Given the description of an element on the screen output the (x, y) to click on. 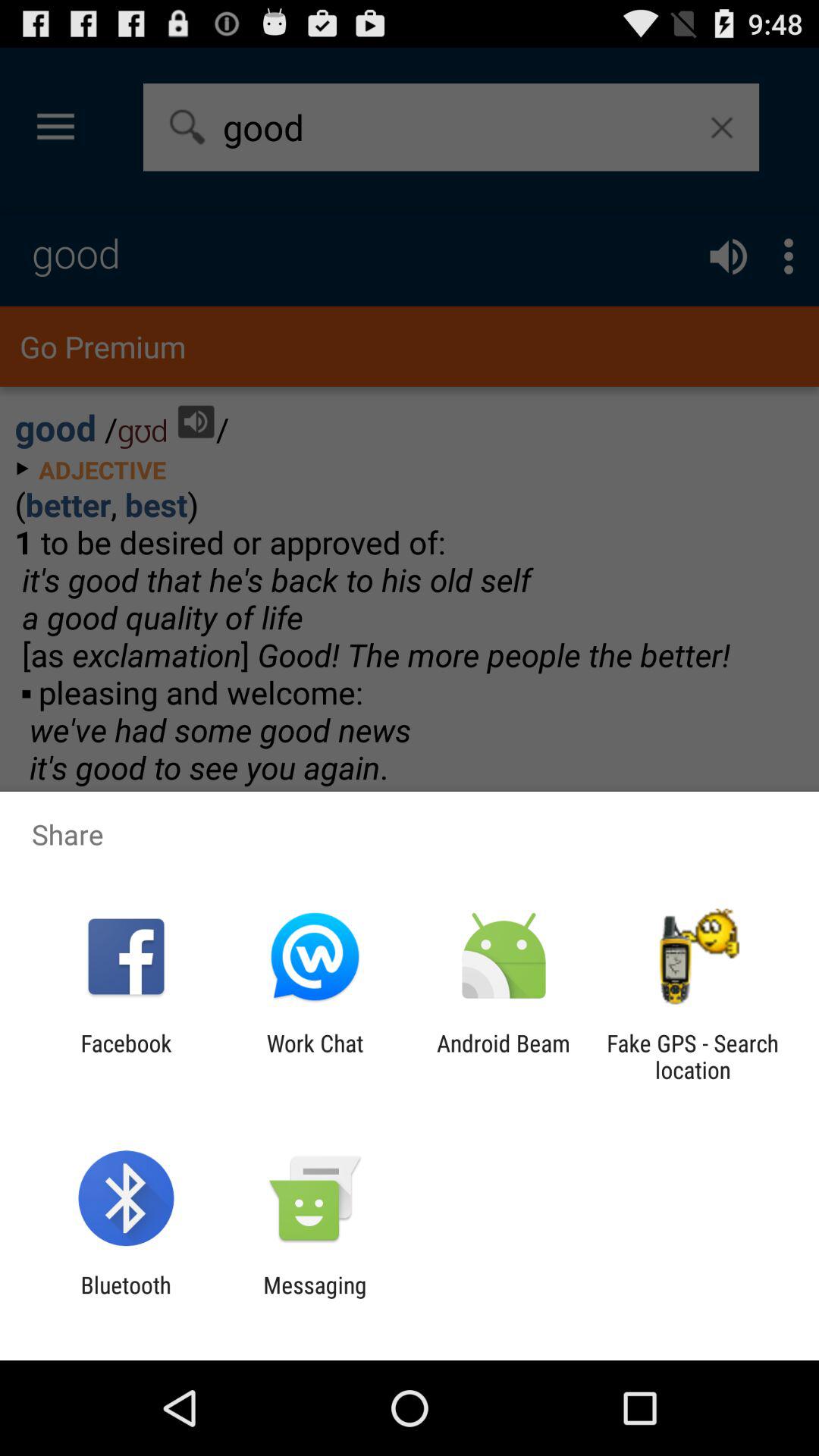
launch item next to the bluetooth item (314, 1298)
